Given the description of an element on the screen output the (x, y) to click on. 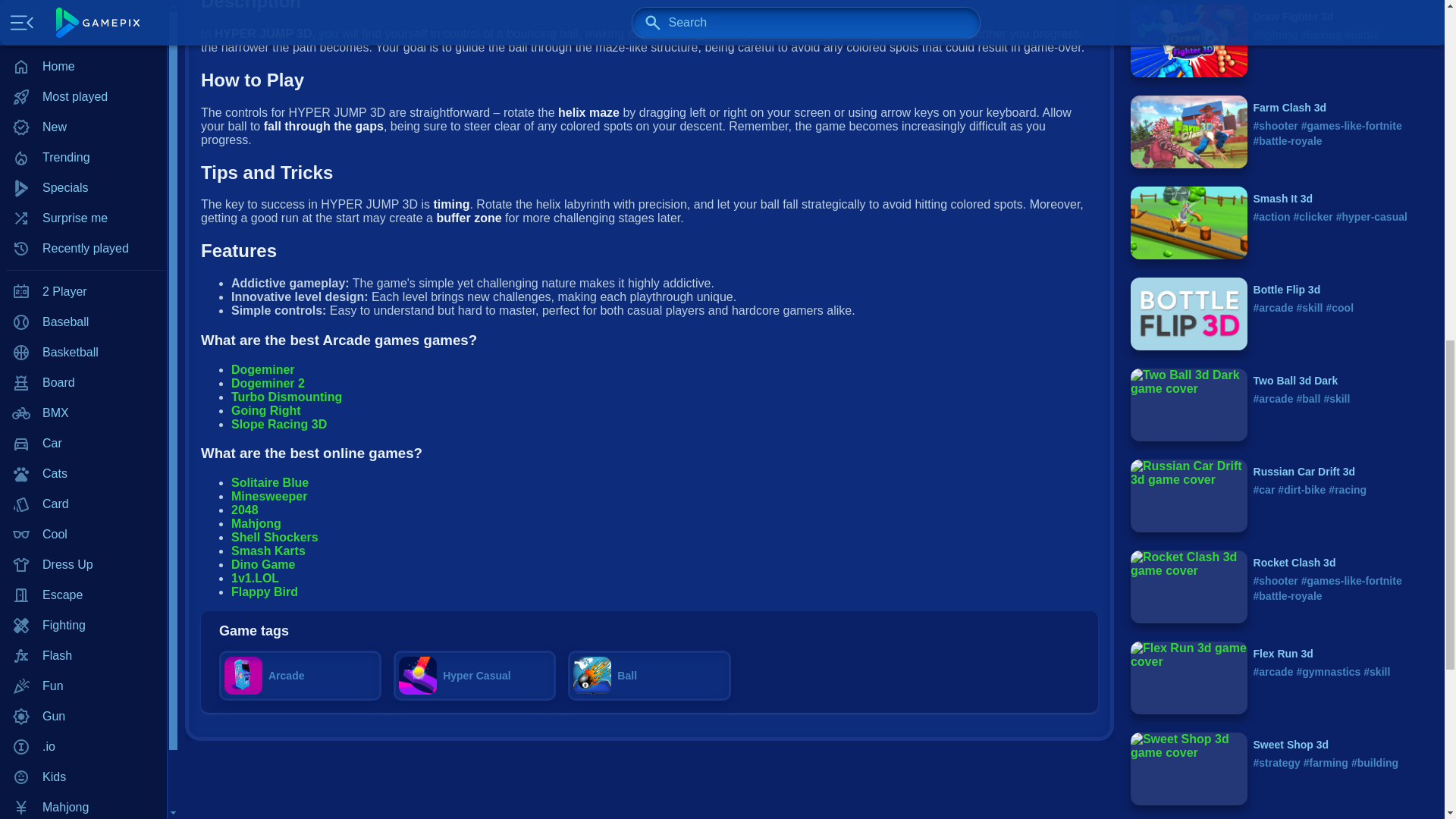
Math (83, 49)
Mahjong (83, 2)
Soccer (83, 291)
Zombie (83, 382)
Mario (83, 19)
War (83, 322)
Puzzle (83, 110)
Shooter (83, 200)
RPG (83, 170)
Snake (83, 261)
Solitaire (83, 231)
Word (83, 352)
Poker (83, 79)
Racing (83, 140)
